Given the description of an element on the screen output the (x, y) to click on. 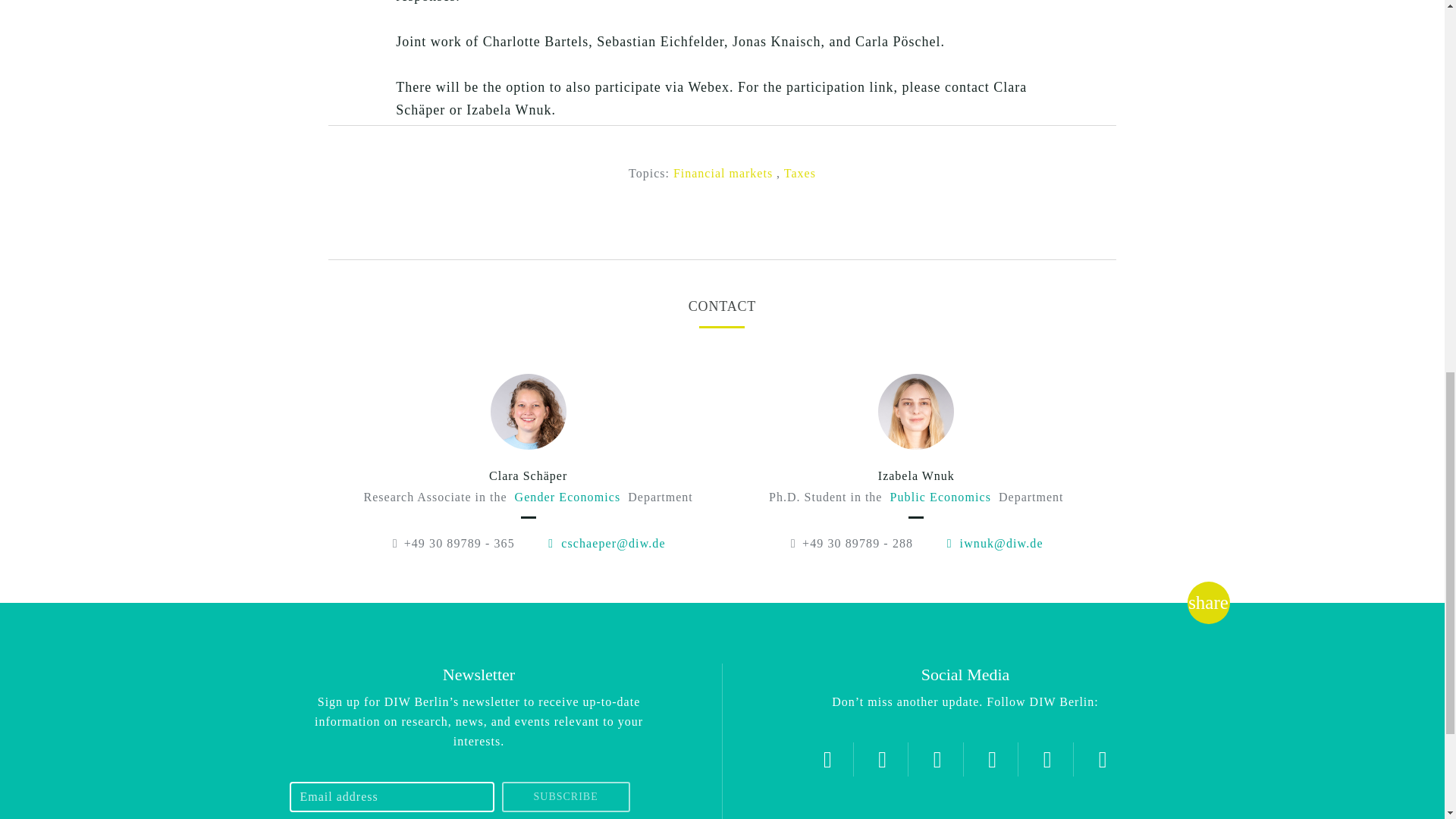
LinkedIn (1047, 759)
RSS feeds (1102, 759)
Share (1208, 602)
Instagram (882, 759)
Youtube (991, 759)
Facebook (937, 759)
Twitter (827, 759)
